Given the description of an element on the screen output the (x, y) to click on. 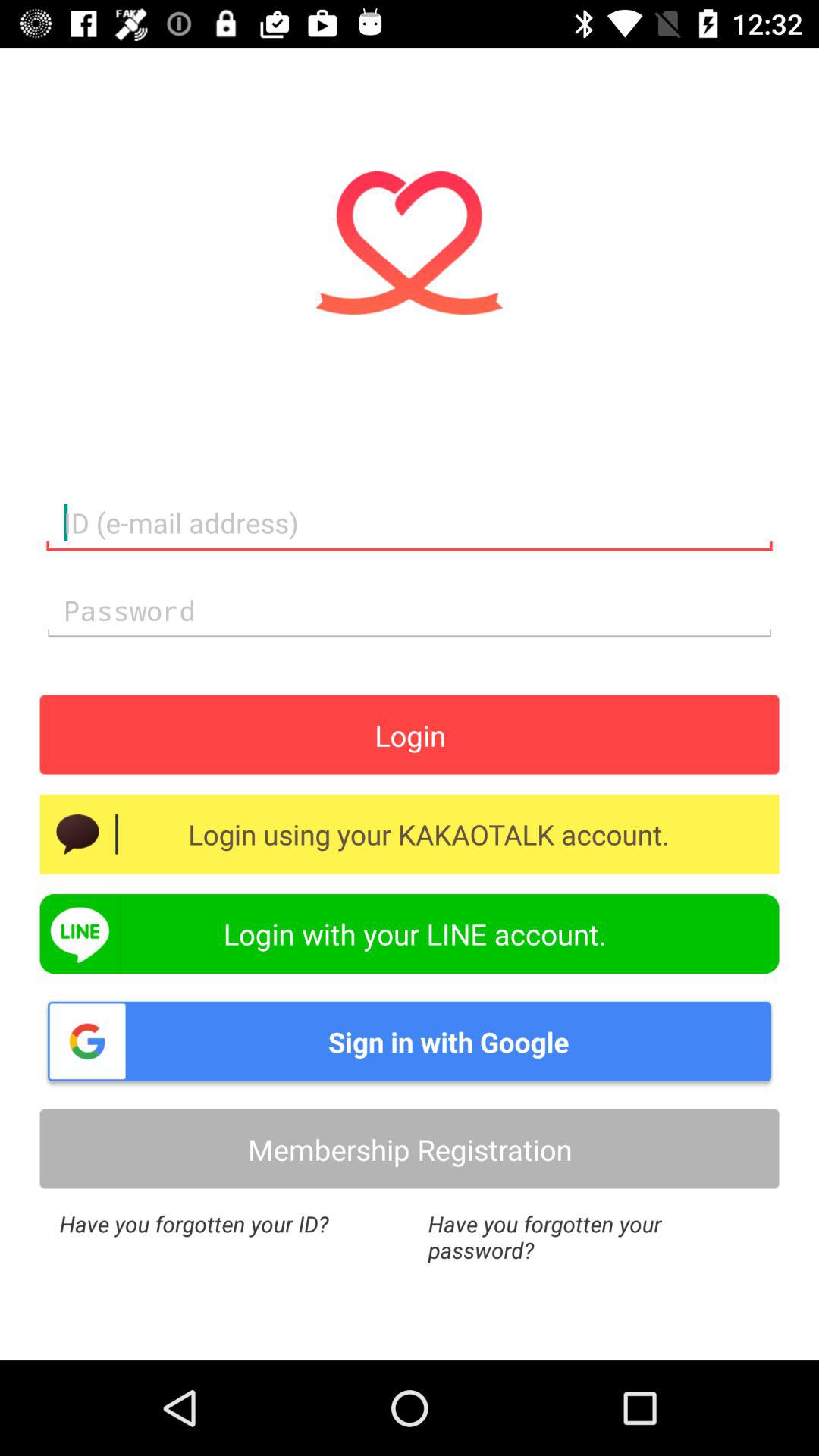
select the sign in with (409, 1041)
